Given the description of an element on the screen output the (x, y) to click on. 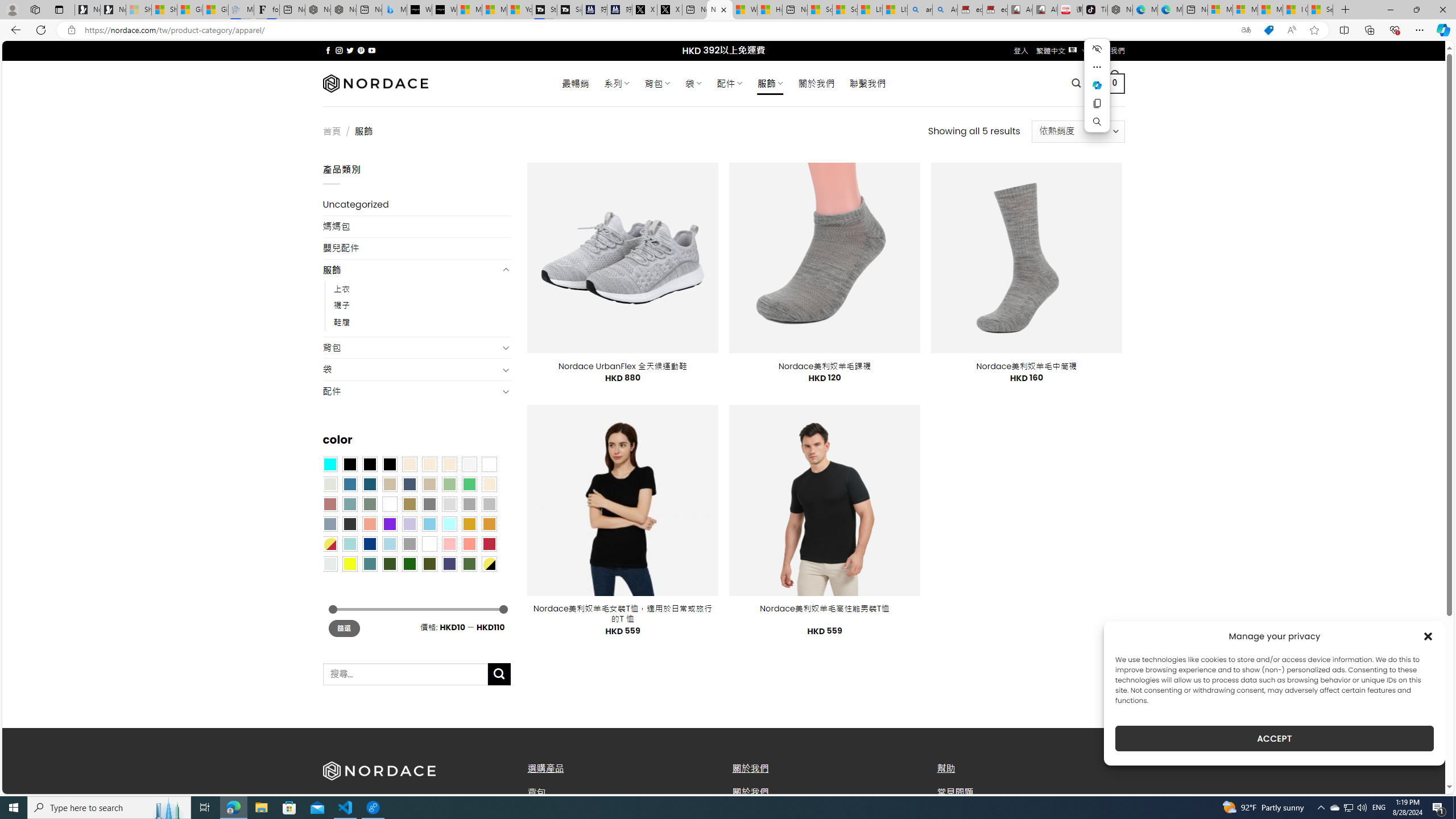
Tab actions menu (58, 9)
Mini menu on text selection (1096, 84)
Shanghai, China weather forecast | Microsoft Weather (164, 9)
Microsoft Start Sports (469, 9)
ACCEPT (1274, 738)
TikTok (1094, 9)
